Given the description of an element on the screen output the (x, y) to click on. 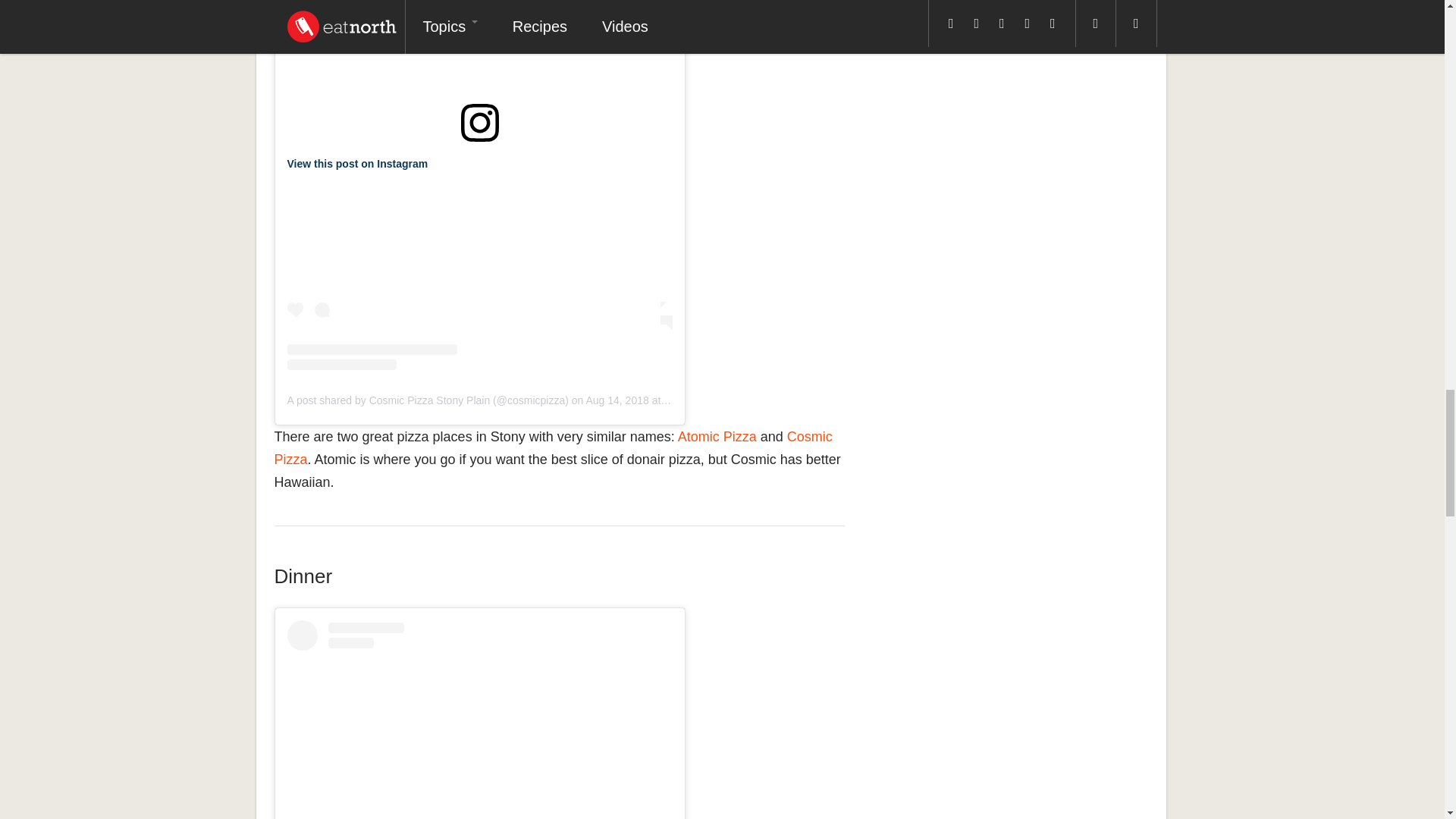
Cosmic Pizza (553, 447)
View this post on Instagram (357, 163)
Atomic Pizza (717, 436)
